Given the description of an element on the screen output the (x, y) to click on. 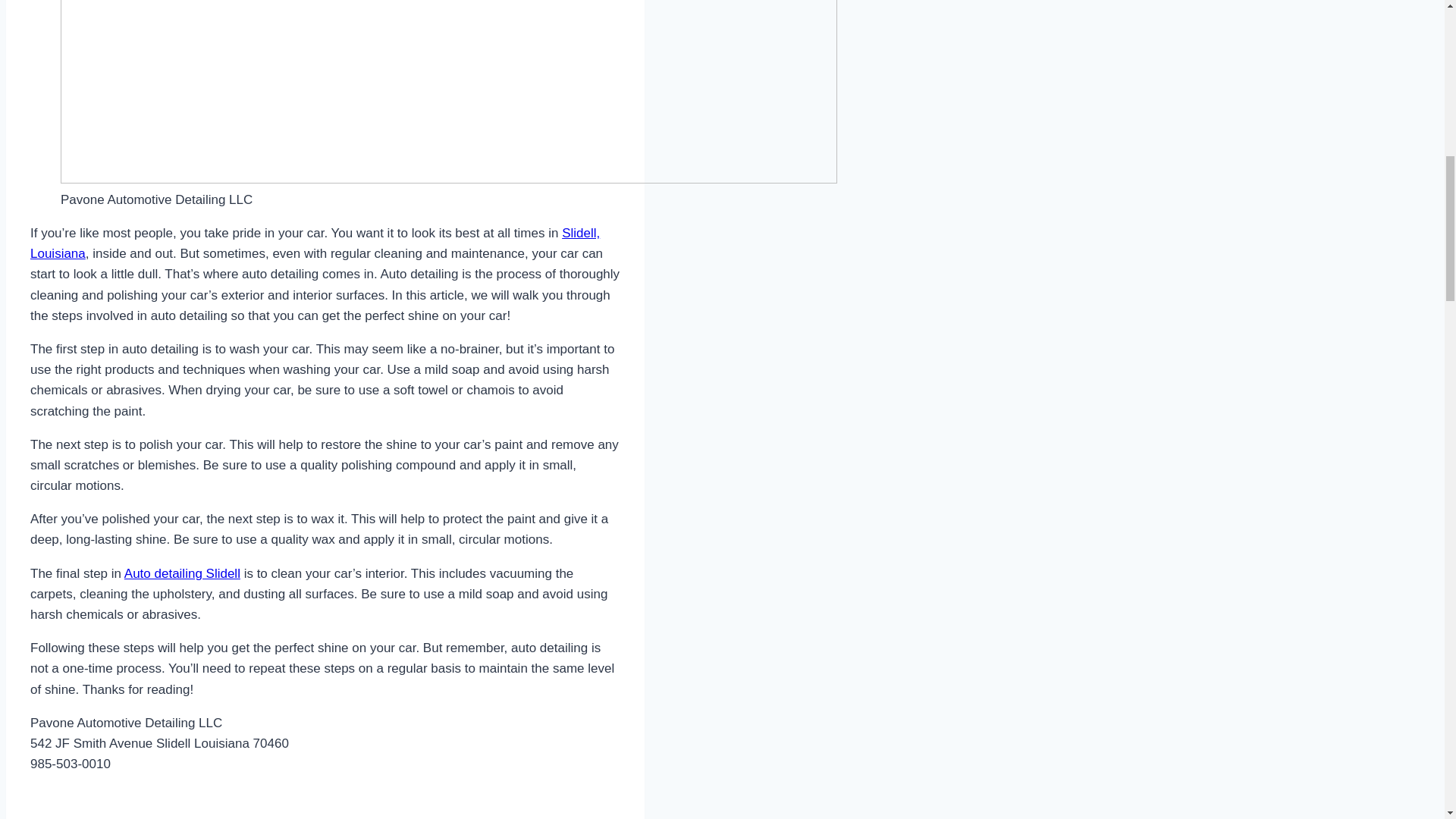
Auto detailing Slidell (181, 573)
Slidell, Louisiana (314, 243)
